Given the description of an element on the screen output the (x, y) to click on. 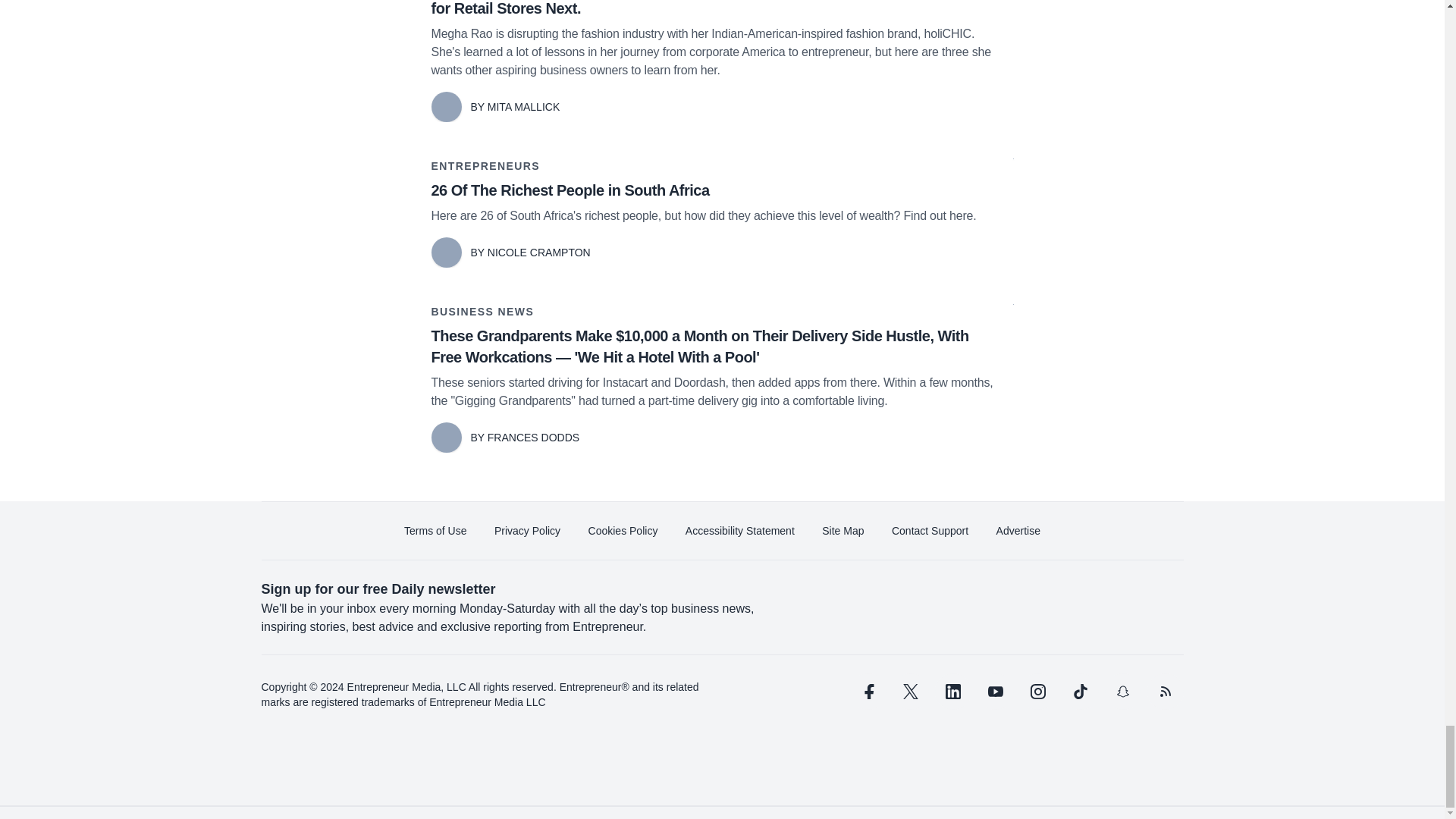
facebook (866, 691)
instagram (1037, 691)
youtube (994, 691)
twitter (909, 691)
linkedin (952, 691)
